Given the description of an element on the screen output the (x, y) to click on. 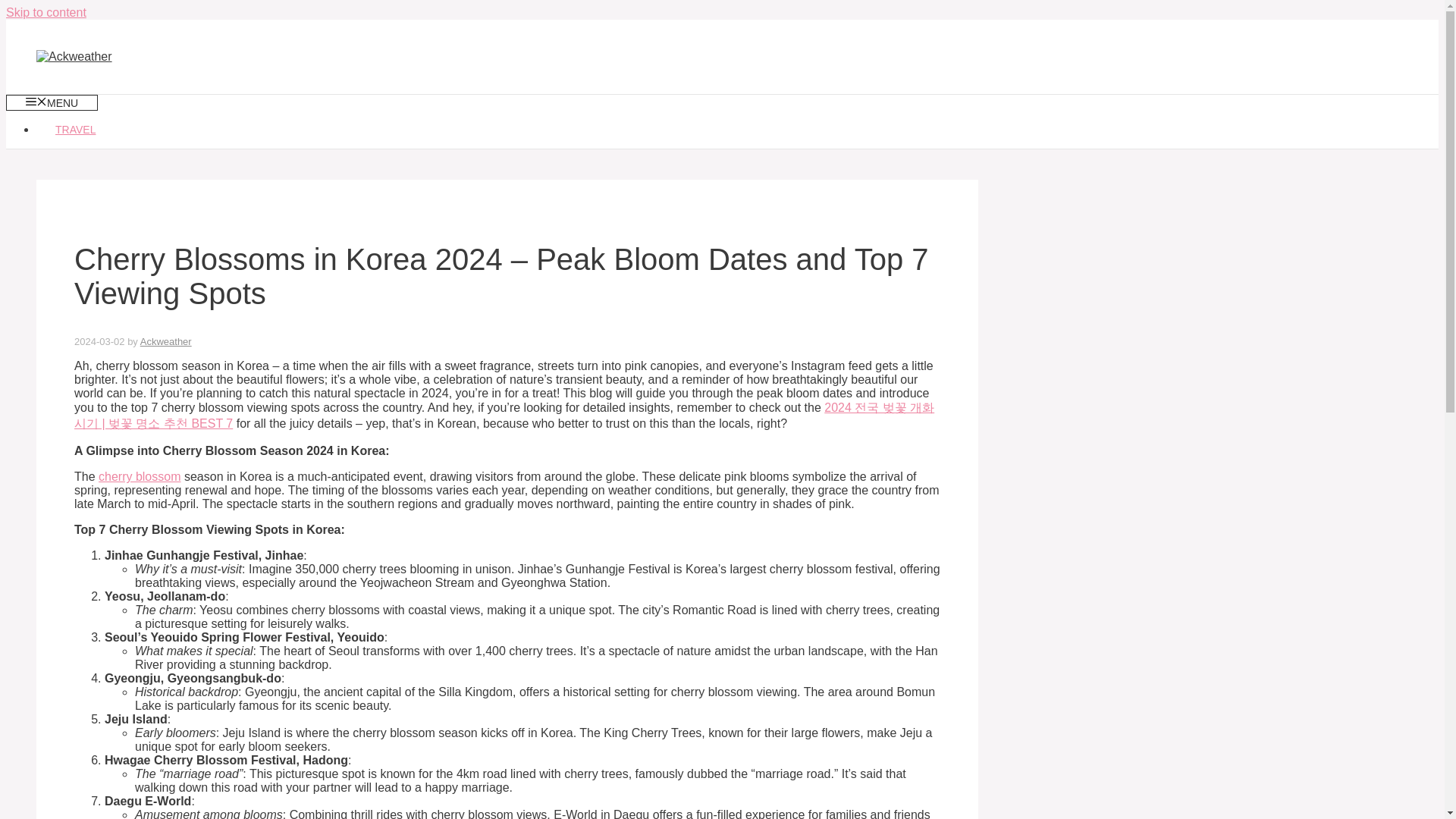
cherry blossom (139, 476)
Skip to content (45, 11)
Skip to content (45, 11)
TRAVEL (75, 129)
MENU (51, 102)
View all posts by Ackweather (165, 341)
Ackweather (165, 341)
